Given the description of an element on the screen output the (x, y) to click on. 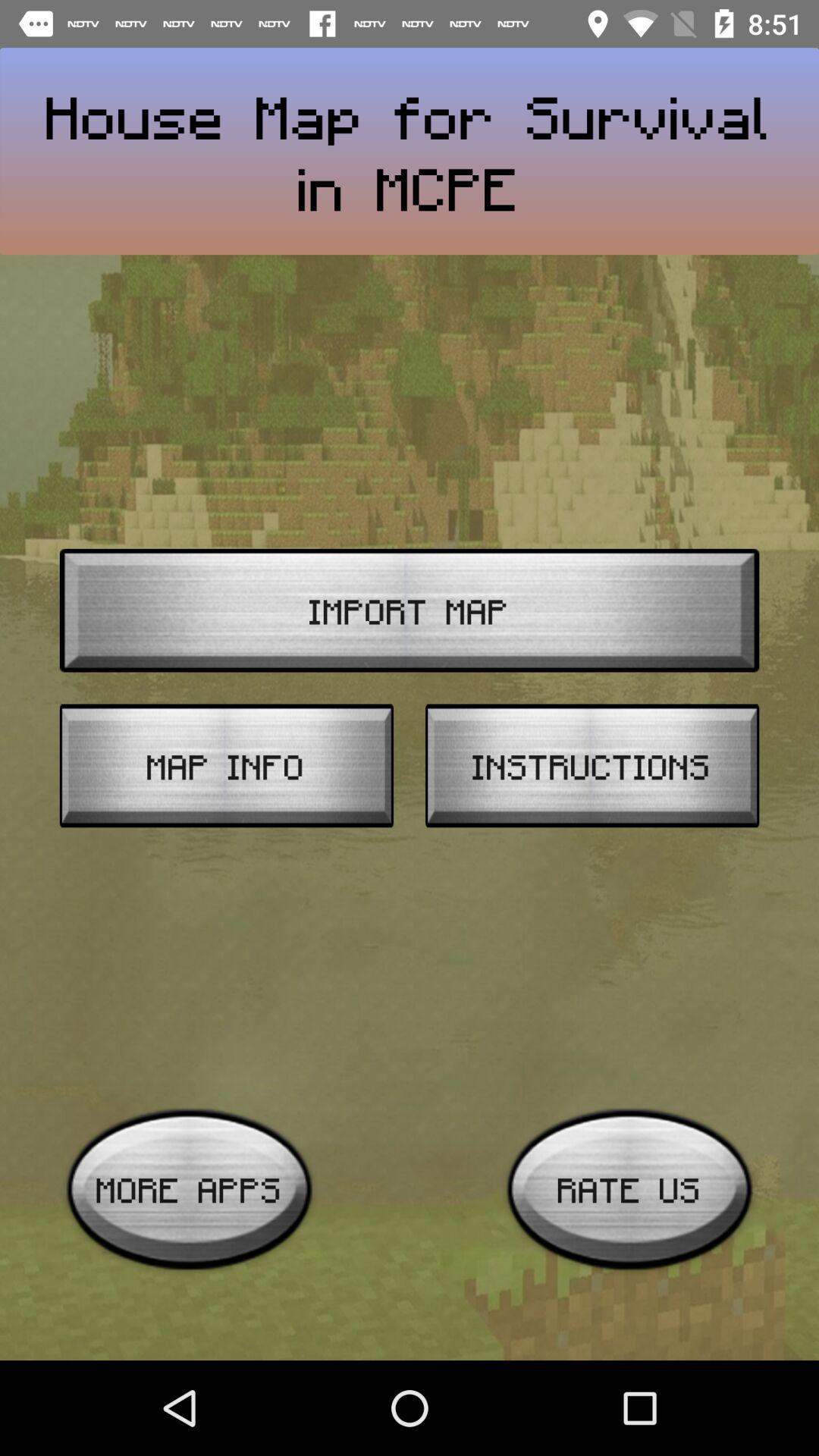
turn off icon above the more apps (226, 765)
